Given the description of an element on the screen output the (x, y) to click on. 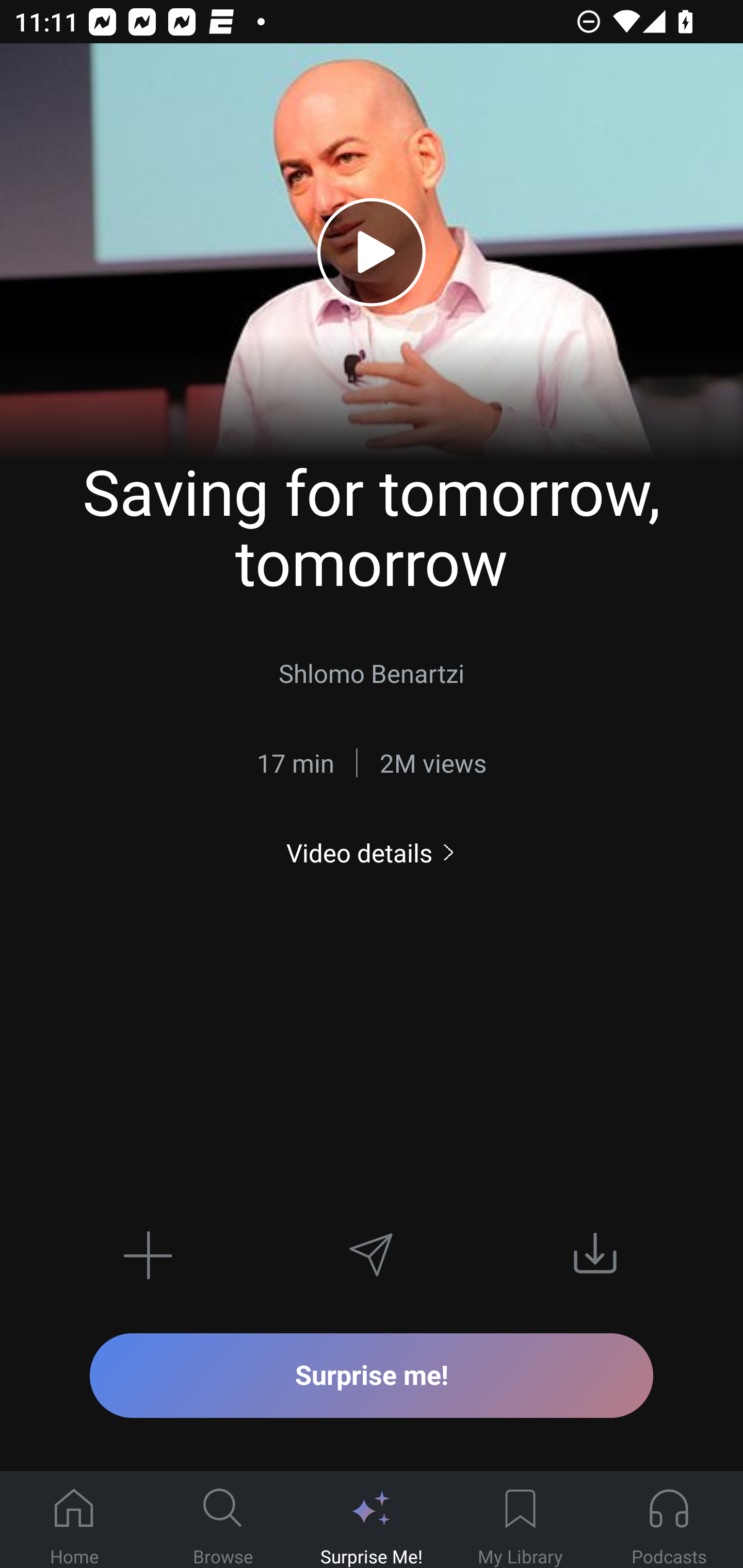
Video details (371, 852)
Surprise me! (371, 1374)
Home (74, 1520)
Browse (222, 1520)
Surprise Me! (371, 1520)
My Library (519, 1520)
Podcasts (668, 1520)
